Given the description of an element on the screen output the (x, y) to click on. 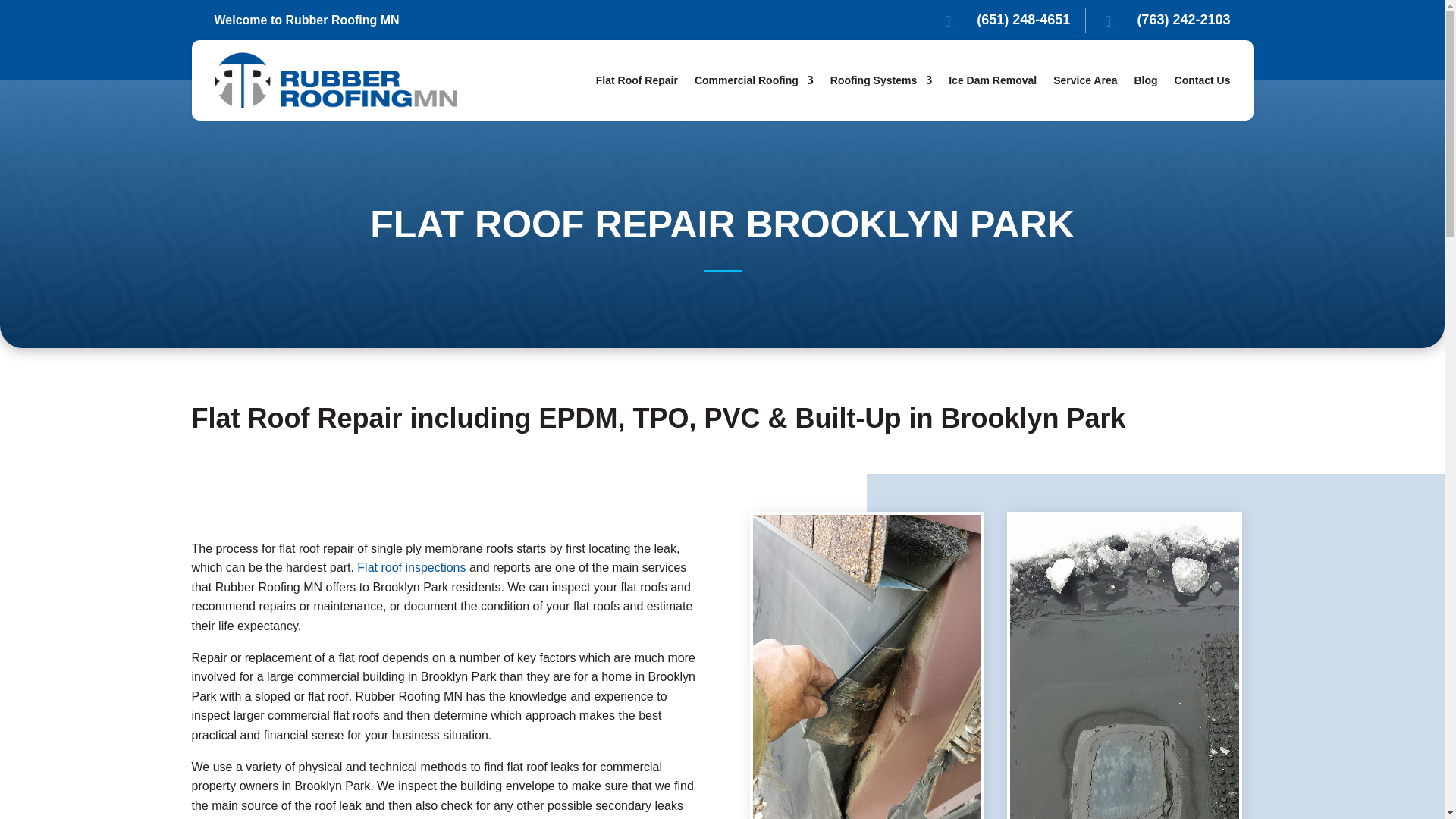
Flat Roof Repair (636, 79)
Contact Us (1202, 79)
Service Area (1084, 79)
Flat roof inspections (410, 567)
Roofing Systems (880, 79)
Commercial Roofing (753, 79)
Ice Dam Removal (992, 79)
